Given the description of an element on the screen output the (x, y) to click on. 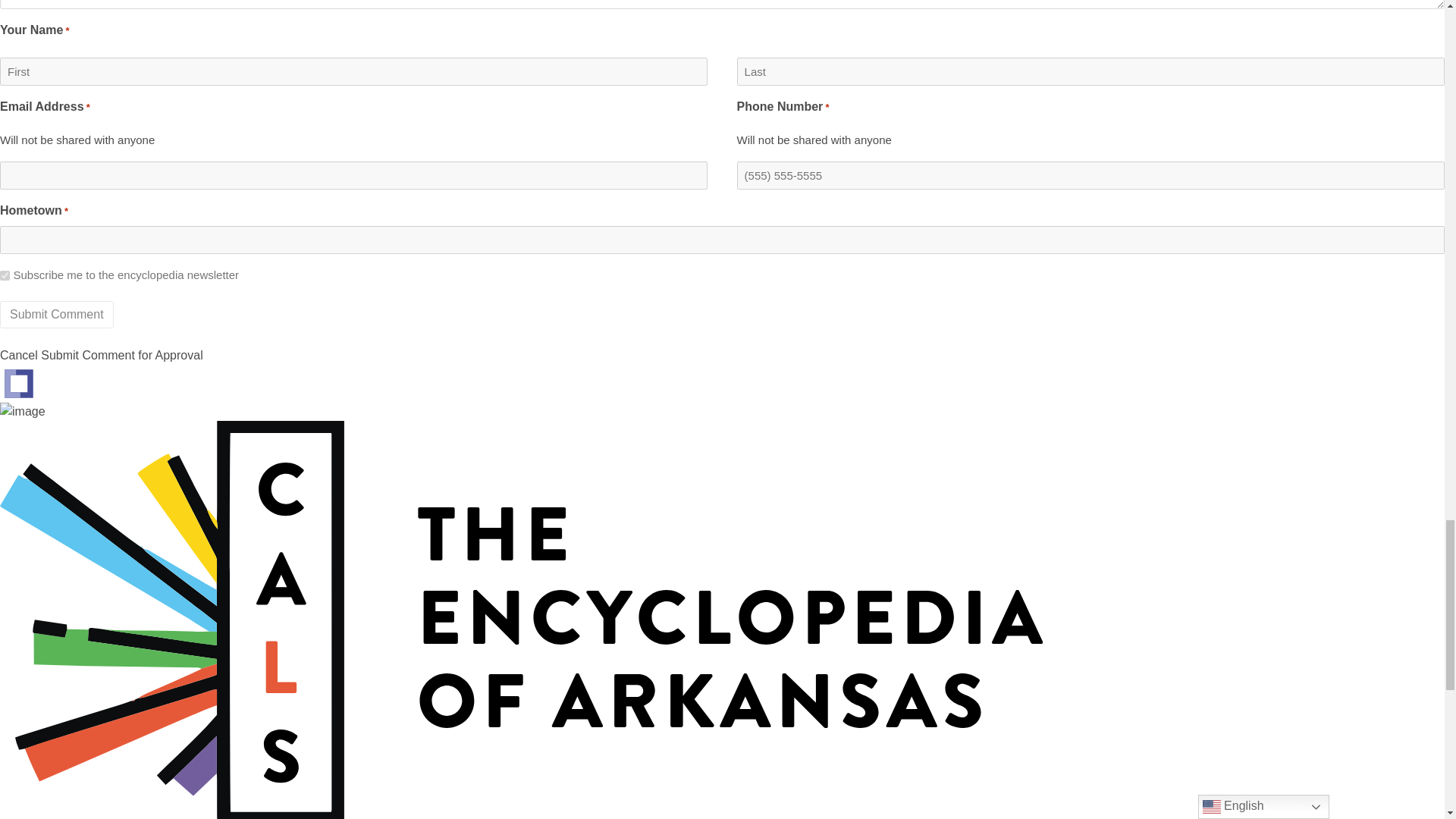
Submit Comment (56, 314)
Subscribe me to the encyclopedia newsletter (5, 275)
